Given the description of an element on the screen output the (x, y) to click on. 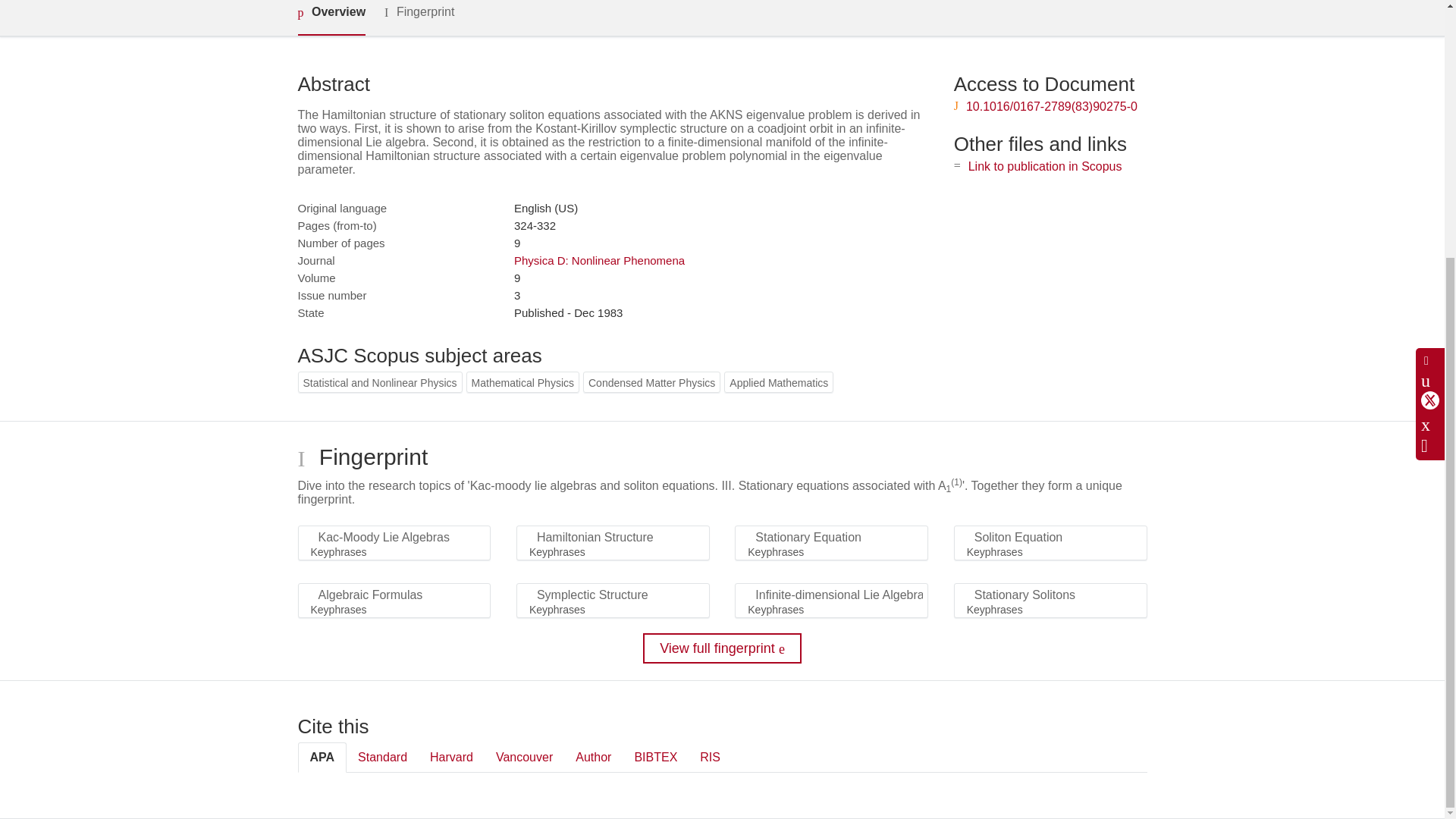
Link to publication in Scopus (1045, 165)
View full fingerprint (722, 648)
Physica D: Nonlinear Phenomena (598, 259)
Overview (331, 18)
Fingerprint (419, 17)
